Given the description of an element on the screen output the (x, y) to click on. 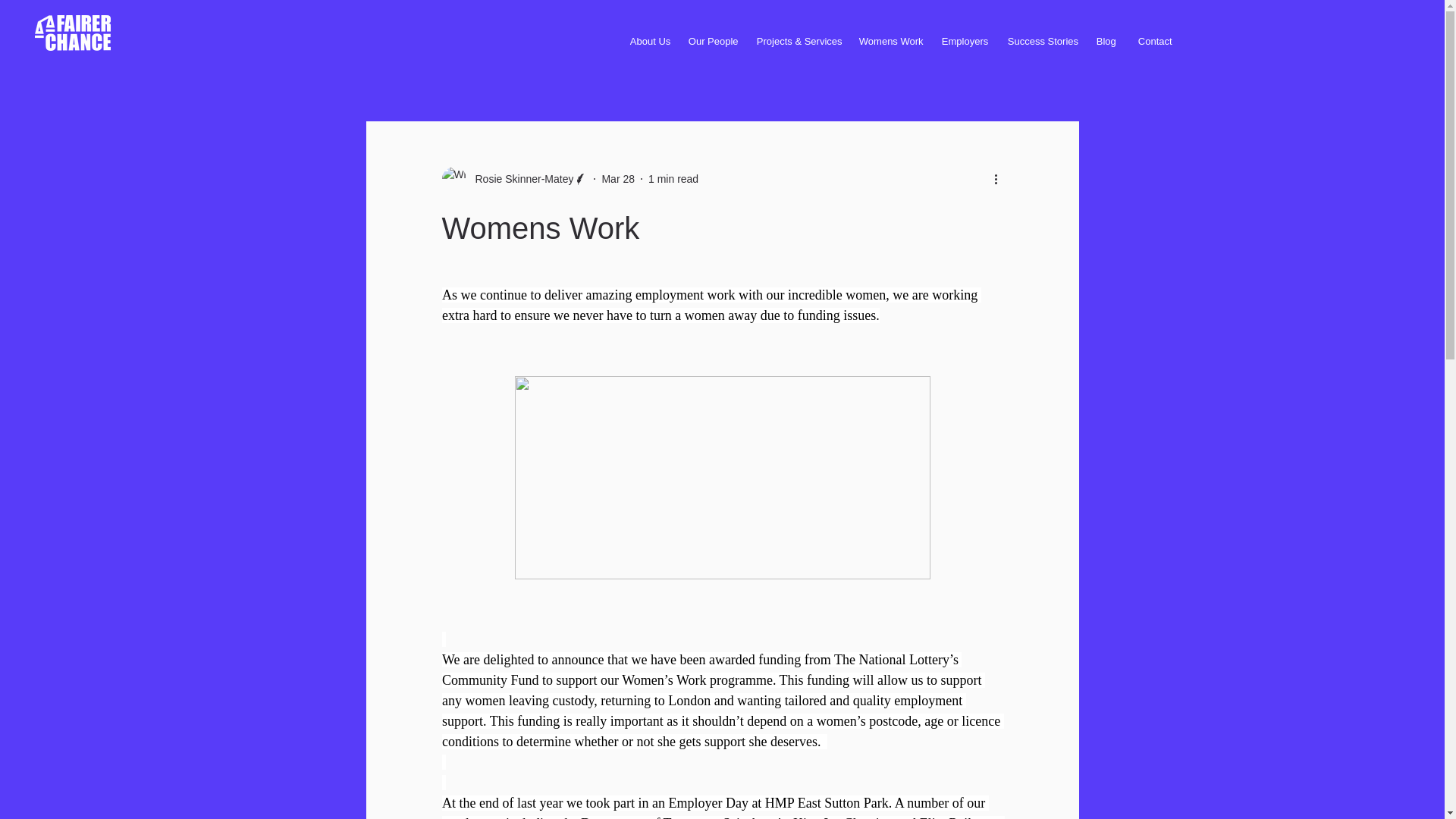
Rosie Skinner-Matey (519, 179)
Our People (711, 41)
Mar 28 (617, 178)
1 min read (672, 178)
Womens Work (888, 41)
Employers (962, 41)
Contact (1153, 41)
About Us (647, 41)
Success Stories (1039, 41)
Blog (1105, 41)
